Given the description of an element on the screen output the (x, y) to click on. 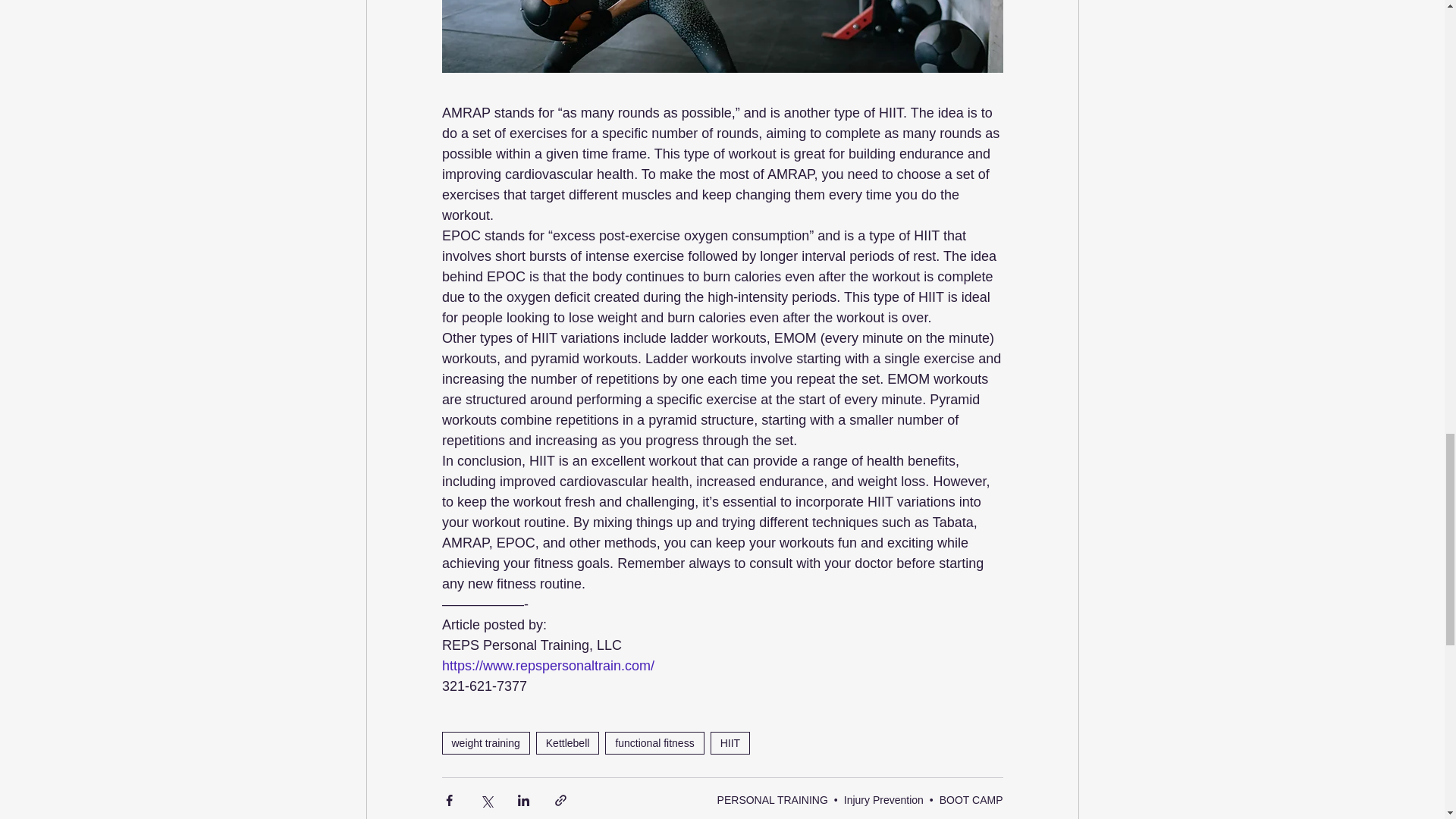
HIIT (729, 743)
functional fitness (654, 743)
Kettlebell (567, 743)
weight training (485, 743)
